Given the description of an element on the screen output the (x, y) to click on. 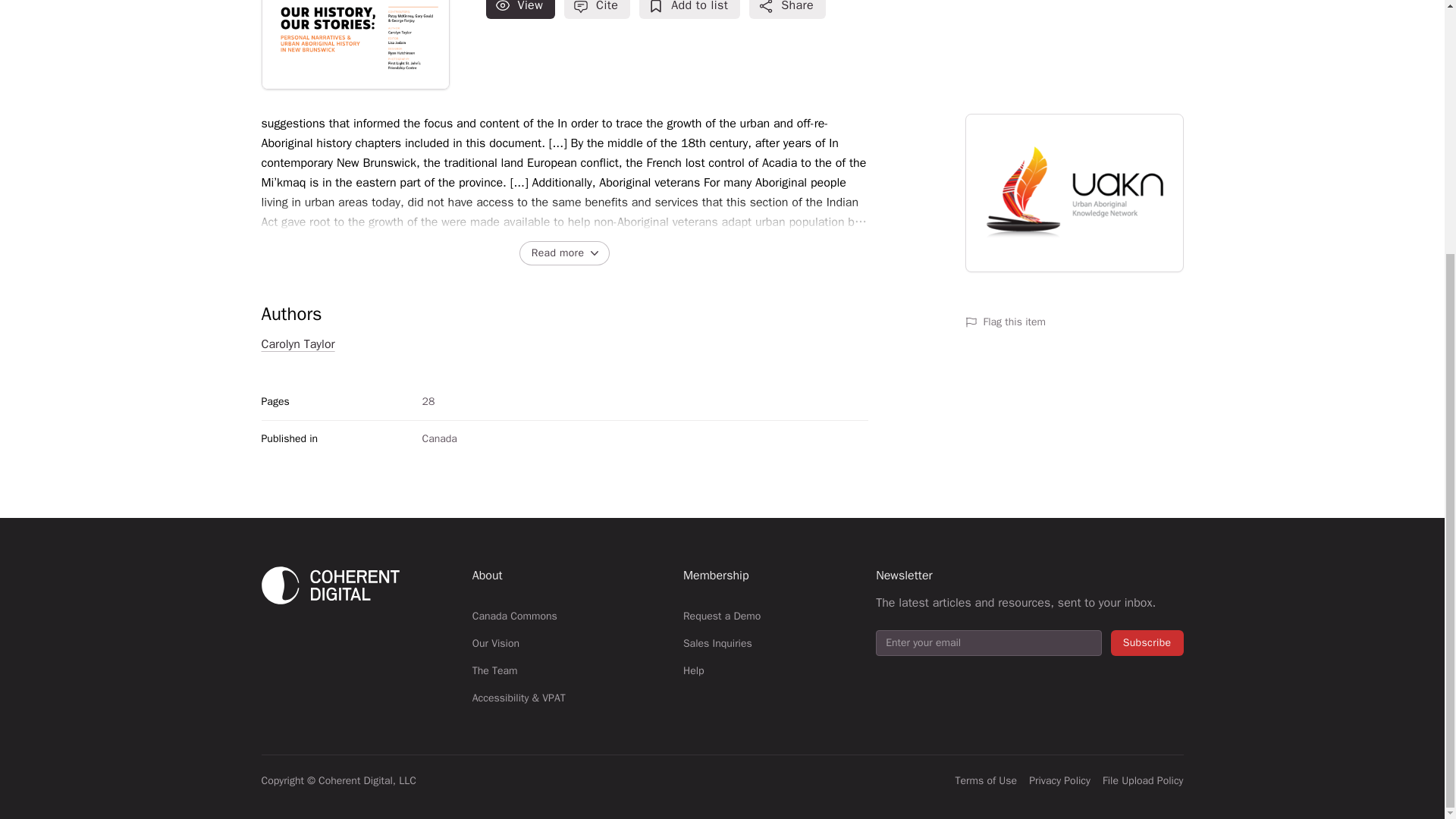
Flag this item (1072, 322)
Add to list (689, 9)
Read more (564, 252)
View (521, 9)
Carolyn Taylor (297, 343)
Share (787, 9)
Cite (597, 9)
